Given the description of an element on the screen output the (x, y) to click on. 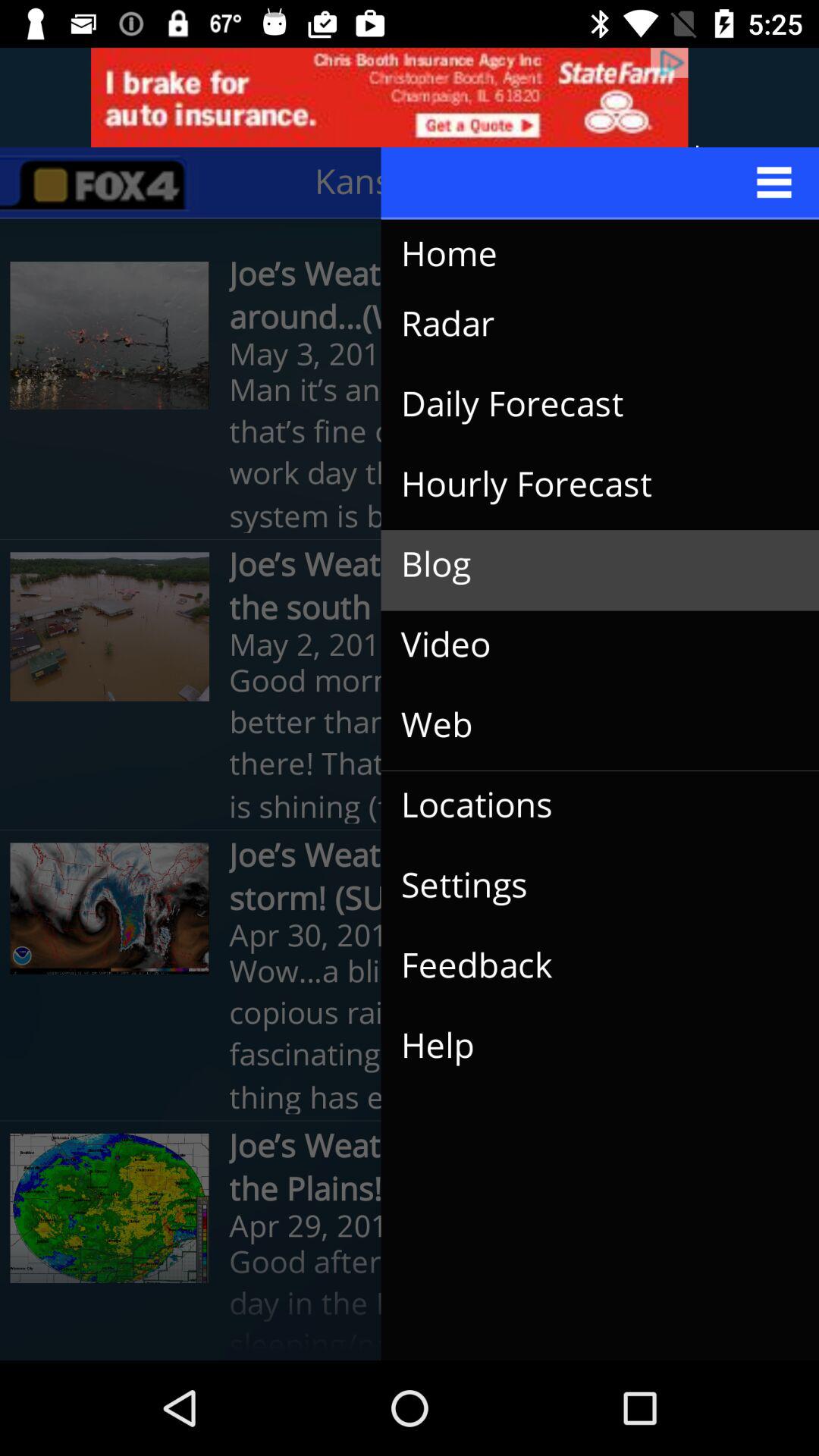
select the icon above radar icon (584, 254)
